Given the description of an element on the screen output the (x, y) to click on. 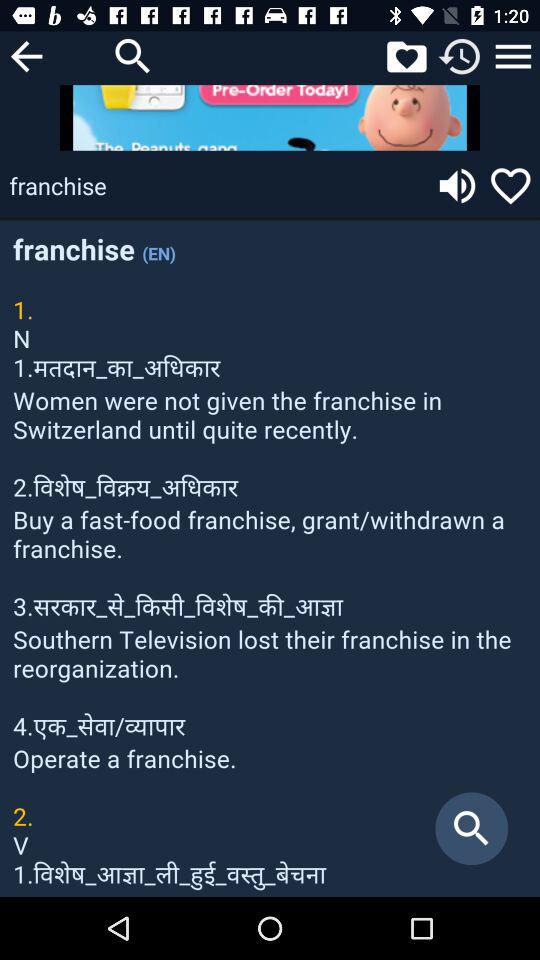
go to previous (26, 56)
